Given the description of an element on the screen output the (x, y) to click on. 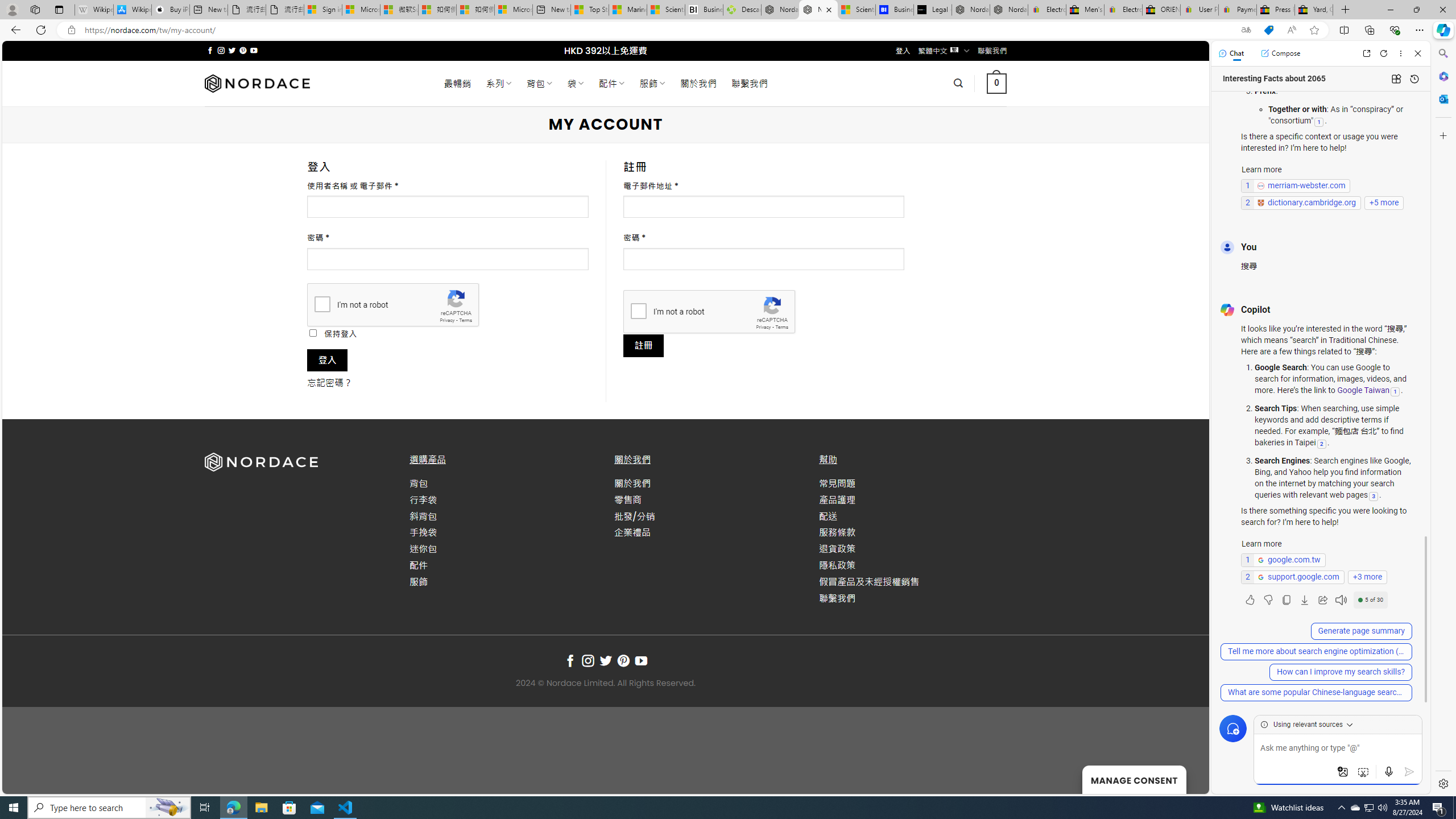
Chat (1231, 52)
